Given the description of an element on the screen output the (x, y) to click on. 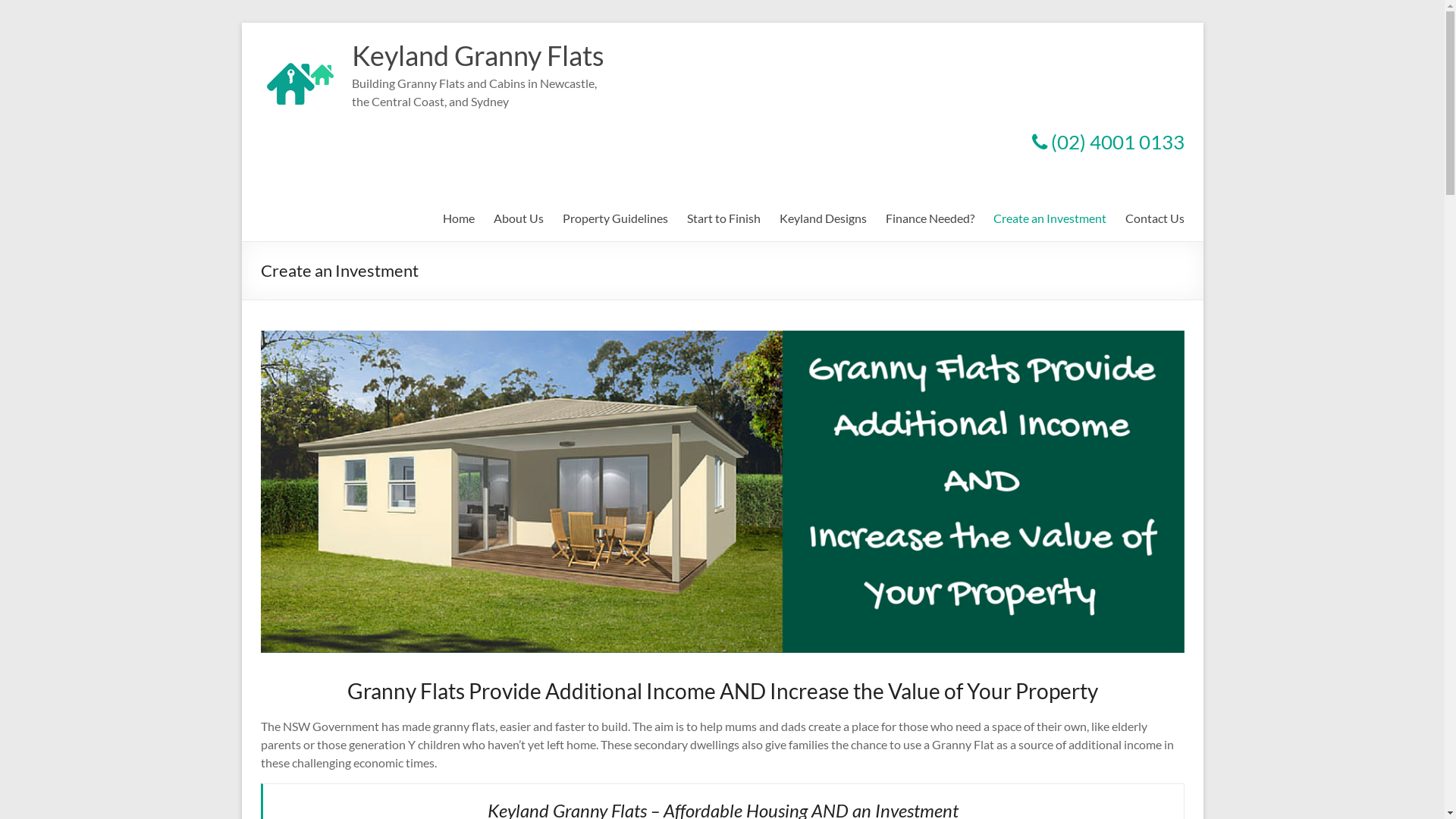
About Us Element type: text (517, 218)
Skip to content Element type: text (241, 21)
Home Element type: text (458, 218)
Contact Us Element type: text (1154, 218)
Start to Finish Element type: text (723, 218)
(02) 4001 0133 Element type: text (1107, 141)
Keyland Designs Element type: text (822, 218)
Keyland Granny Flats Element type: text (477, 55)
Finance Needed? Element type: text (929, 218)
Property Guidelines Element type: text (615, 218)
Create an Investment Element type: text (1049, 218)
